Given the description of an element on the screen output the (x, y) to click on. 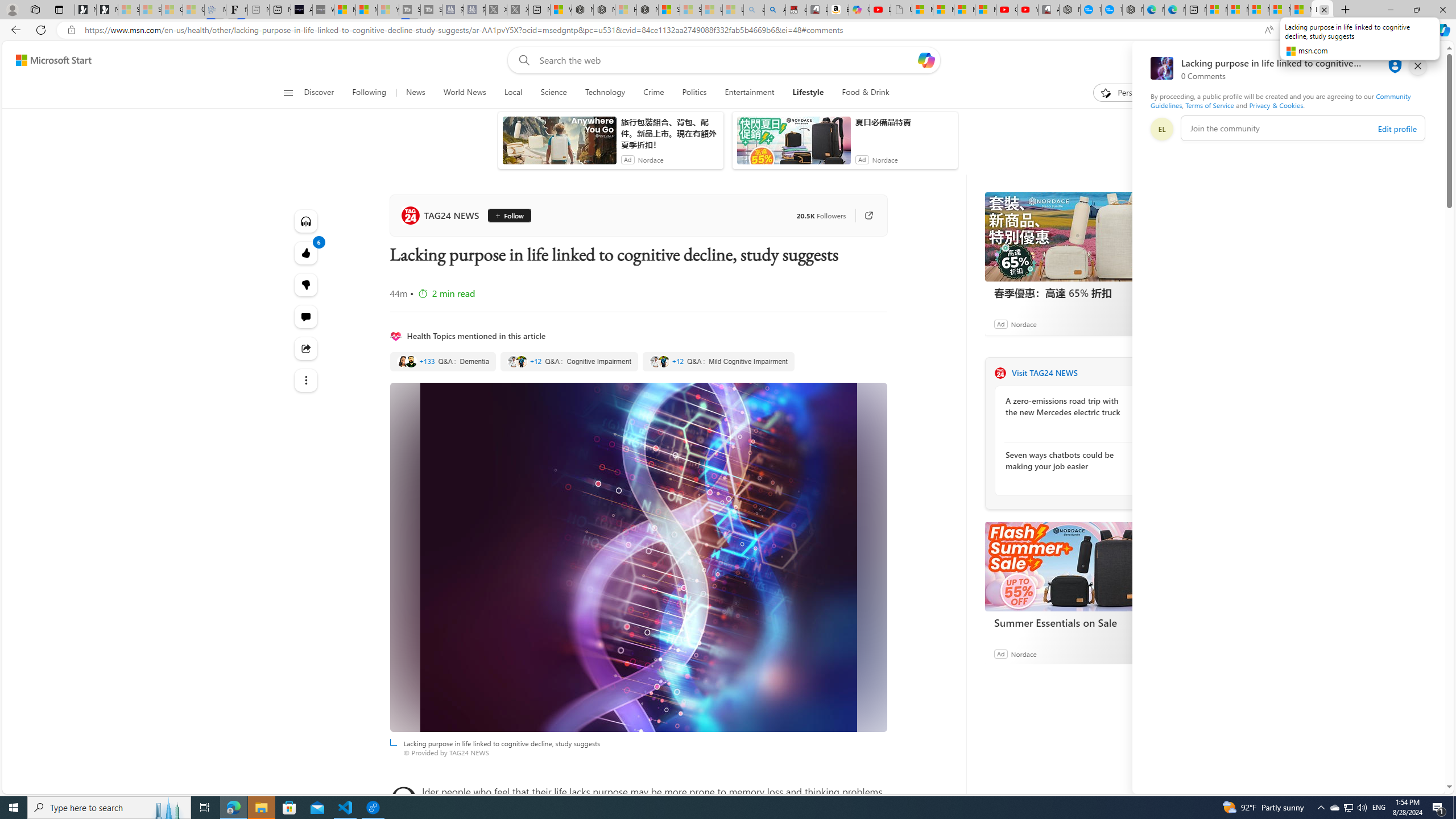
Lifestyle (808, 92)
Science (553, 92)
